Given the description of an element on the screen output the (x, y) to click on. 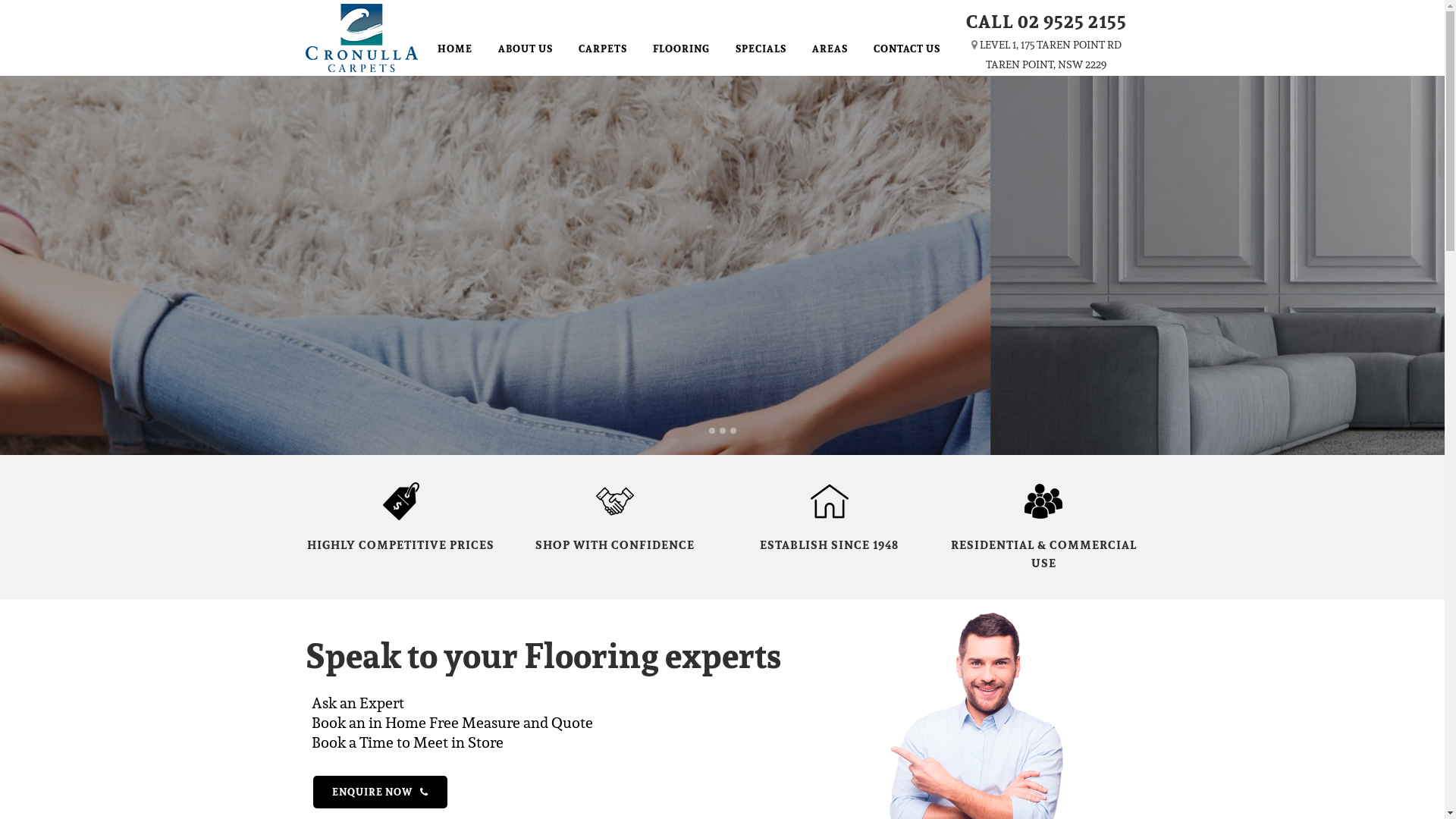
AREAS Element type: text (829, 49)
001-handshake Element type: hover (614, 501)
people Element type: hover (1043, 501)
READ MORE Element type: text (663, 317)
ABOUT US Element type: text (525, 49)
HOME Element type: text (454, 49)
CONTACT US Element type: text (905, 49)
CALL 02 9525 2155 Element type: text (1046, 20)
LEVEL 1, 175 TAREN POINT RD
TAREN POINT, NSW 2229 Element type: text (1050, 54)
FLOORING Element type: text (681, 49)
CARPETS Element type: text (602, 49)
ENQUIRE NOW Element type: text (379, 791)
001-tag Element type: hover (401, 501)
SPECIALS Element type: text (759, 49)
ABOUT US Element type: text (769, 317)
002-construction Element type: hover (829, 501)
